Given the description of an element on the screen output the (x, y) to click on. 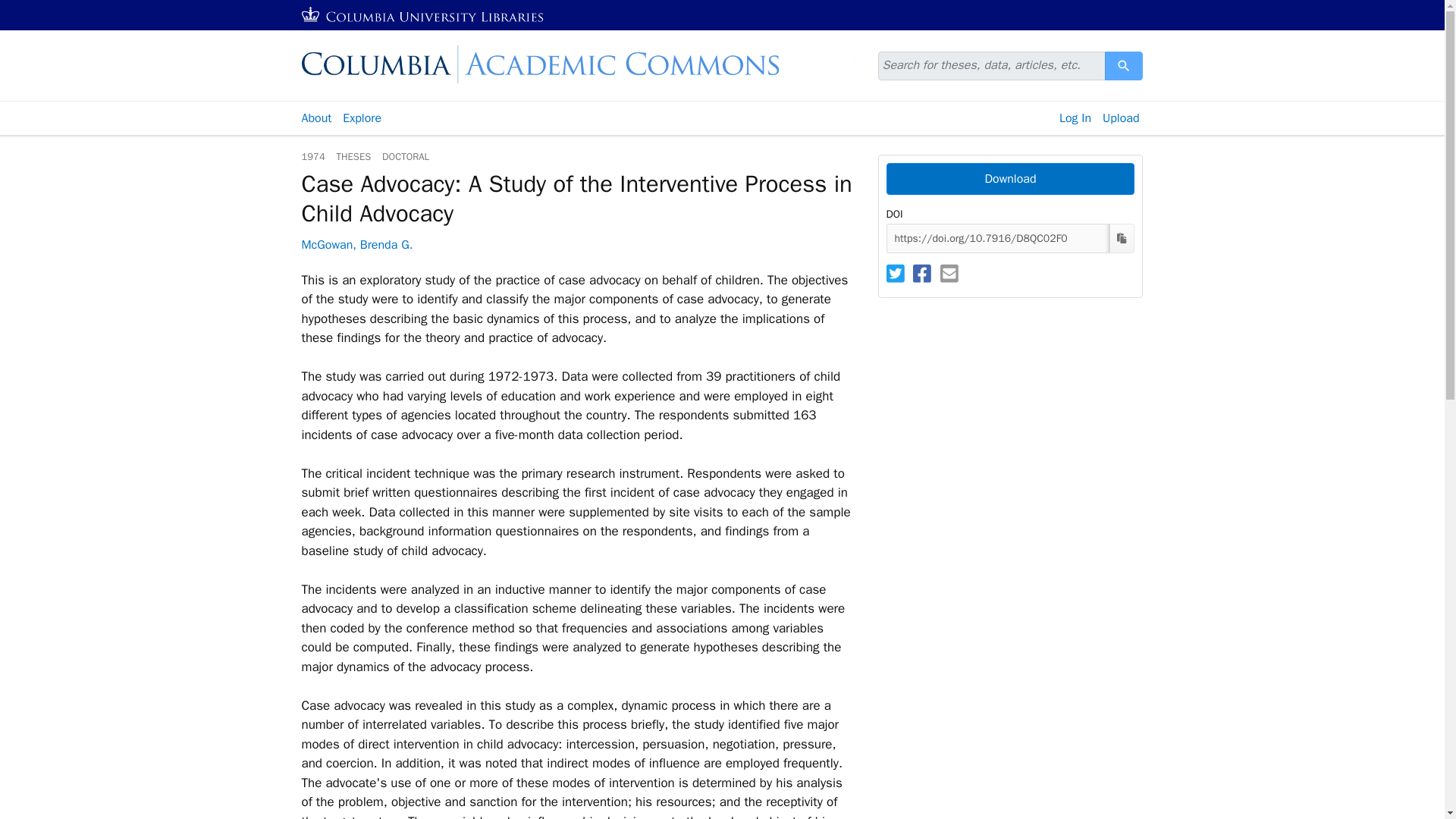
McGowan, Brenda G. (357, 243)
Skip to main content (39, 9)
Search (1123, 65)
Academic Commons (1123, 65)
About (578, 64)
Columbia University Libraries (315, 118)
Skip to search (422, 14)
Download (36, 9)
Log In (1009, 178)
